Given the description of an element on the screen output the (x, y) to click on. 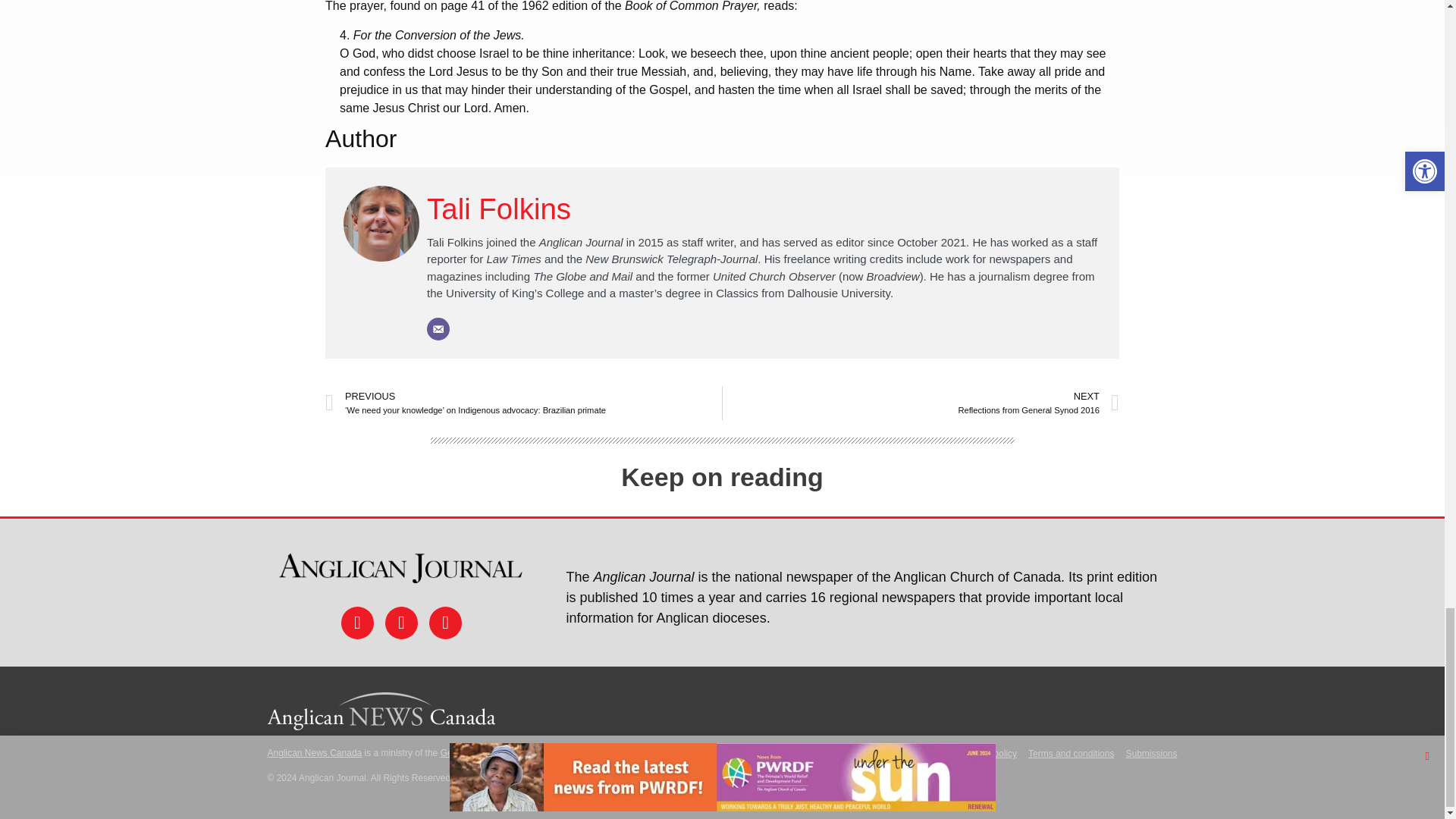
Tali Folkins (498, 208)
